Given the description of an element on the screen output the (x, y) to click on. 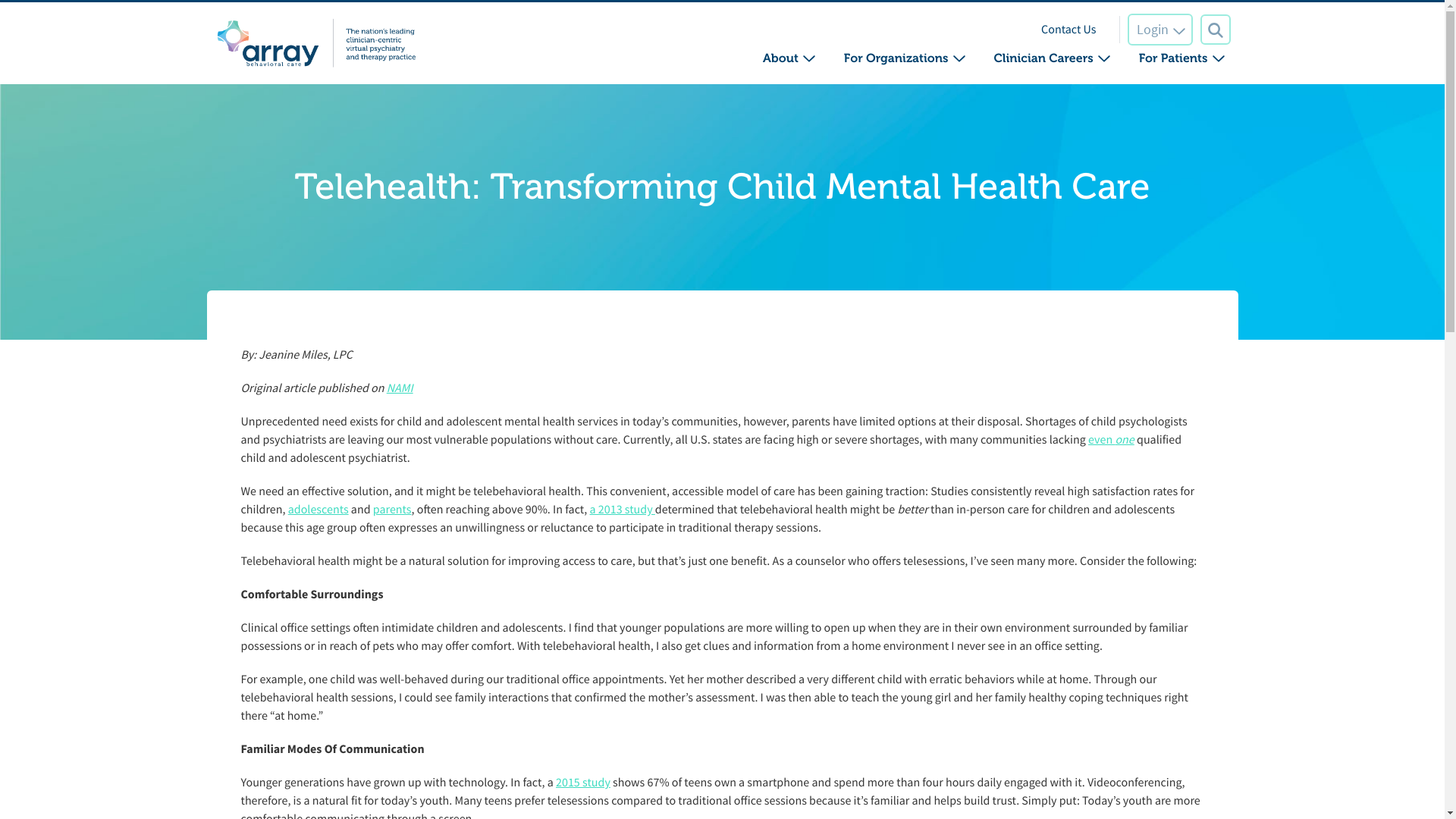
Login (1159, 29)
For Patients (1173, 58)
Contact Us (1067, 29)
For Organizations (896, 58)
About (780, 58)
Clinician Careers (1043, 58)
